Given the description of an element on the screen output the (x, y) to click on. 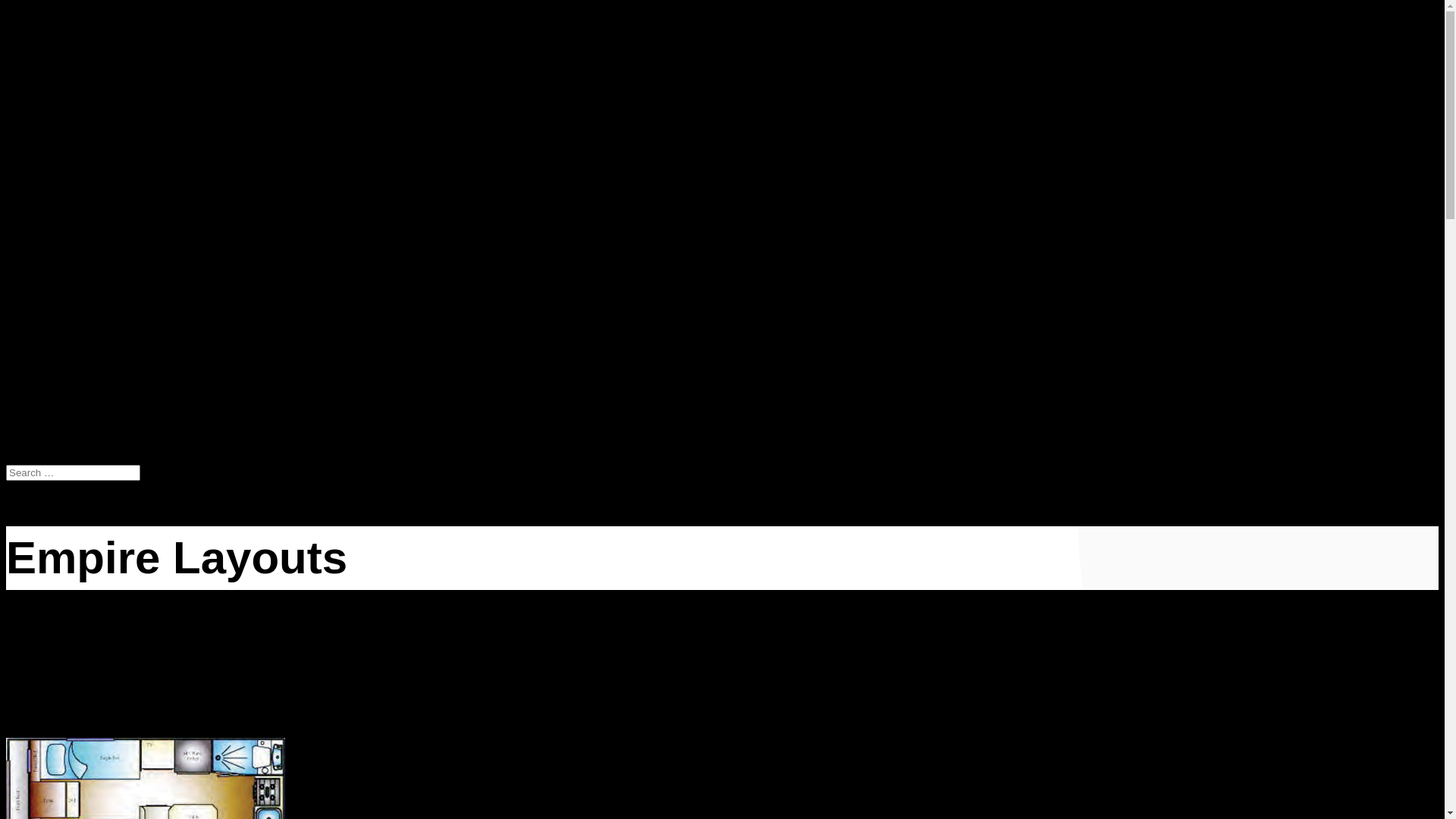
Facebook Element type: text (55, 34)
About Empire Element type: text (70, 346)
info@empirecaravans.com.au Element type: text (114, 11)
Home Element type: text (50, 332)
The Monte Carlo Element type: text (108, 390)
RSS Element type: text (44, 46)
0 Items Element type: text (20, 103)
Facebook Element type: text (55, 69)
Search for: Element type: hover (73, 472)
RSS Element type: text (44, 81)
Layouts Element type: text (55, 428)
The Luxor Element type: text (92, 376)
The Solitaire Element type: text (97, 404)
Our Range Element type: text (62, 359)
Contact Us Element type: text (63, 441)
The Emperor Element type: text (98, 363)
